Given the description of an element on the screen output the (x, y) to click on. 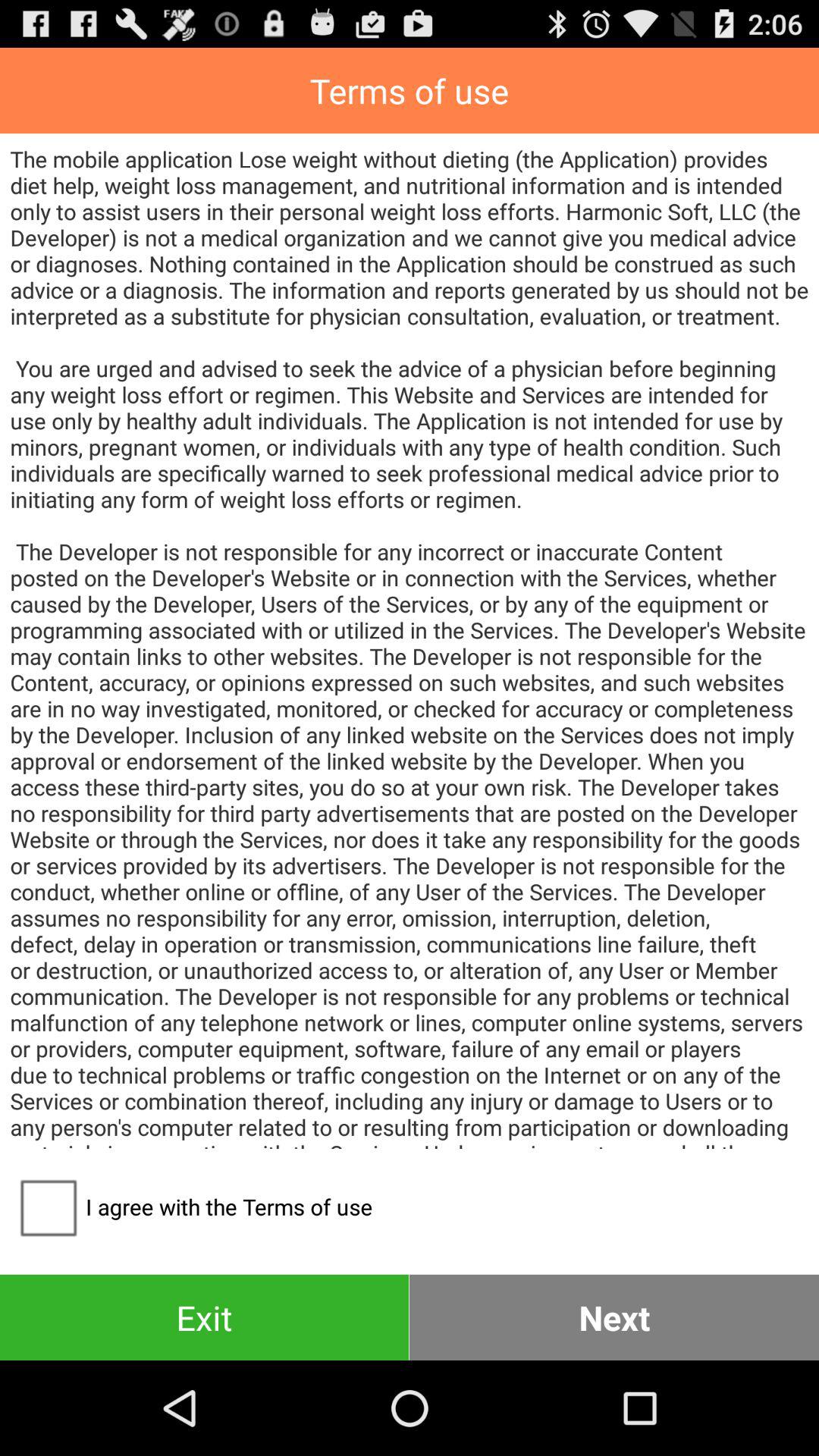
turn off button above exit (191, 1206)
